Given the description of an element on the screen output the (x, y) to click on. 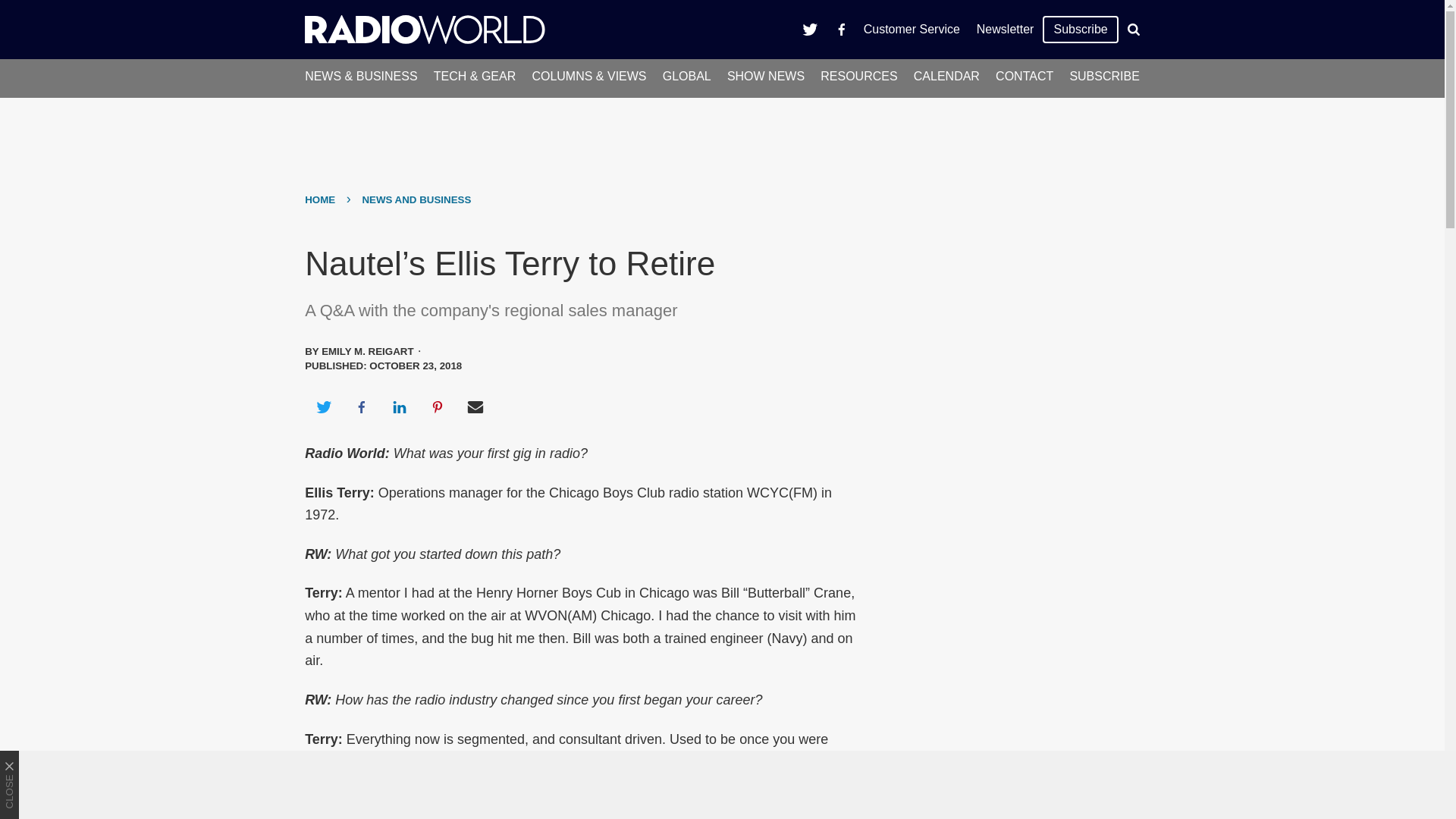
Share on Facebook (361, 406)
Share on Twitter (323, 406)
Share on Pinterest (438, 406)
Share on LinkedIn (399, 406)
Customer Service (912, 29)
Share via Email (476, 406)
